Given the description of an element on the screen output the (x, y) to click on. 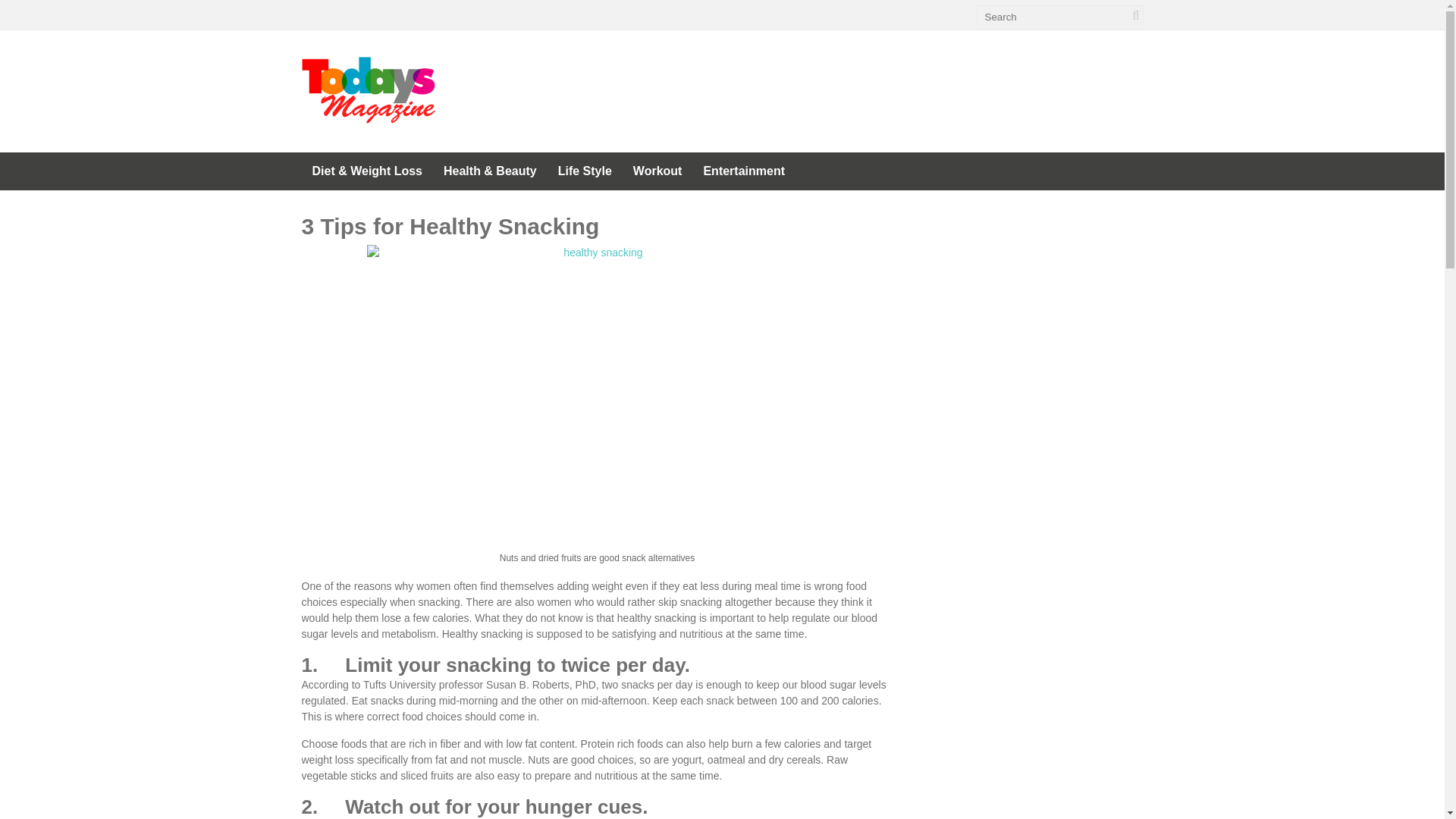
Life Style (585, 171)
Entertainment (743, 171)
Workout (658, 171)
Todays Magazine (369, 115)
